Given the description of an element on the screen output the (x, y) to click on. 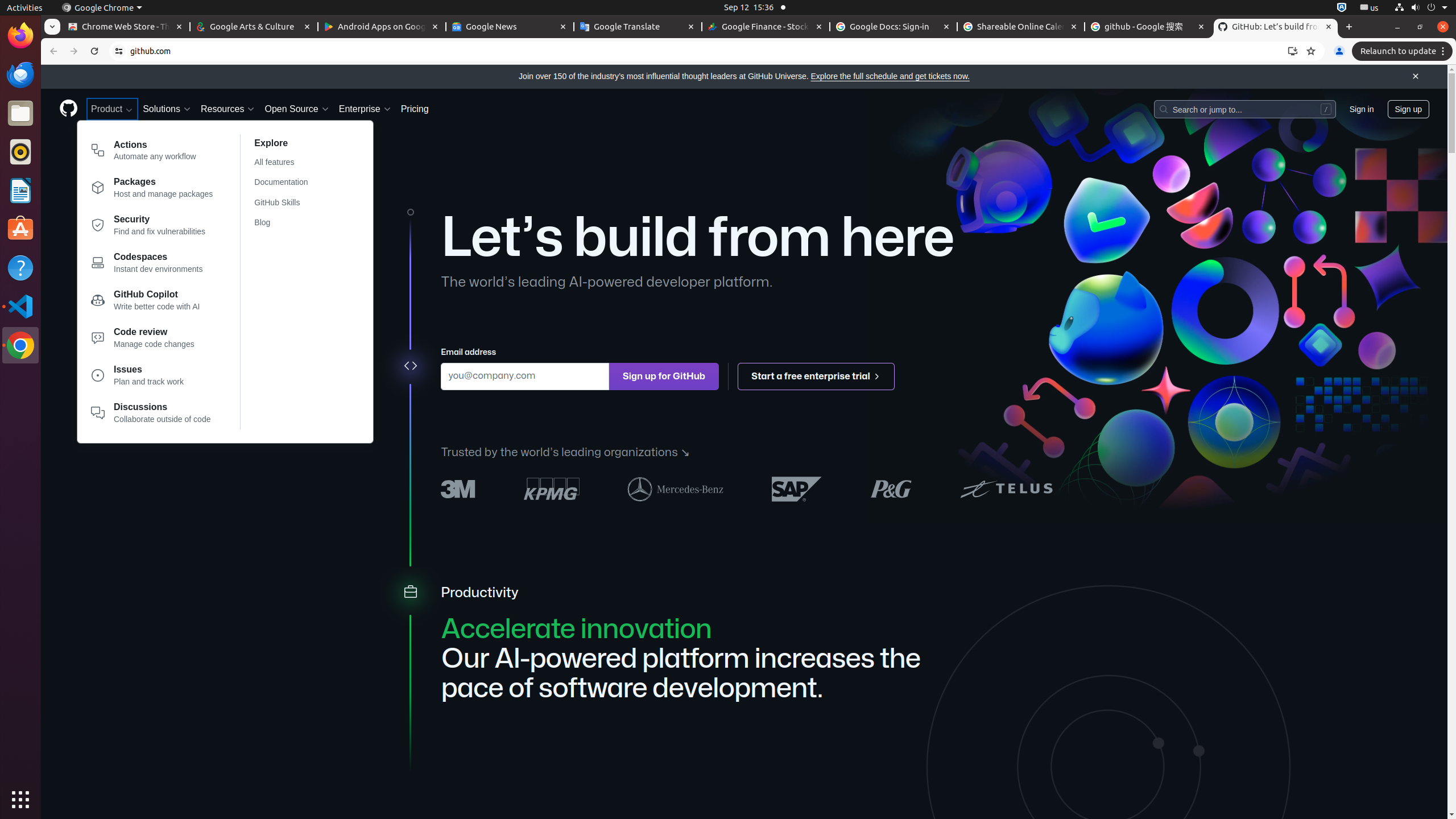
Sign up for GitHub Element type: push-button (663, 376)
Sign up Element type: link (1408, 108)
GitHub Skills Element type: link (287, 202)
Shareable Online Calendar and Scheduling - Google Calendar - Memory usage - 88.4 MB Element type: page-tab (1020, 26)
LibreOffice Writer Element type: push-button (20, 190)
